Given the description of an element on the screen output the (x, y) to click on. 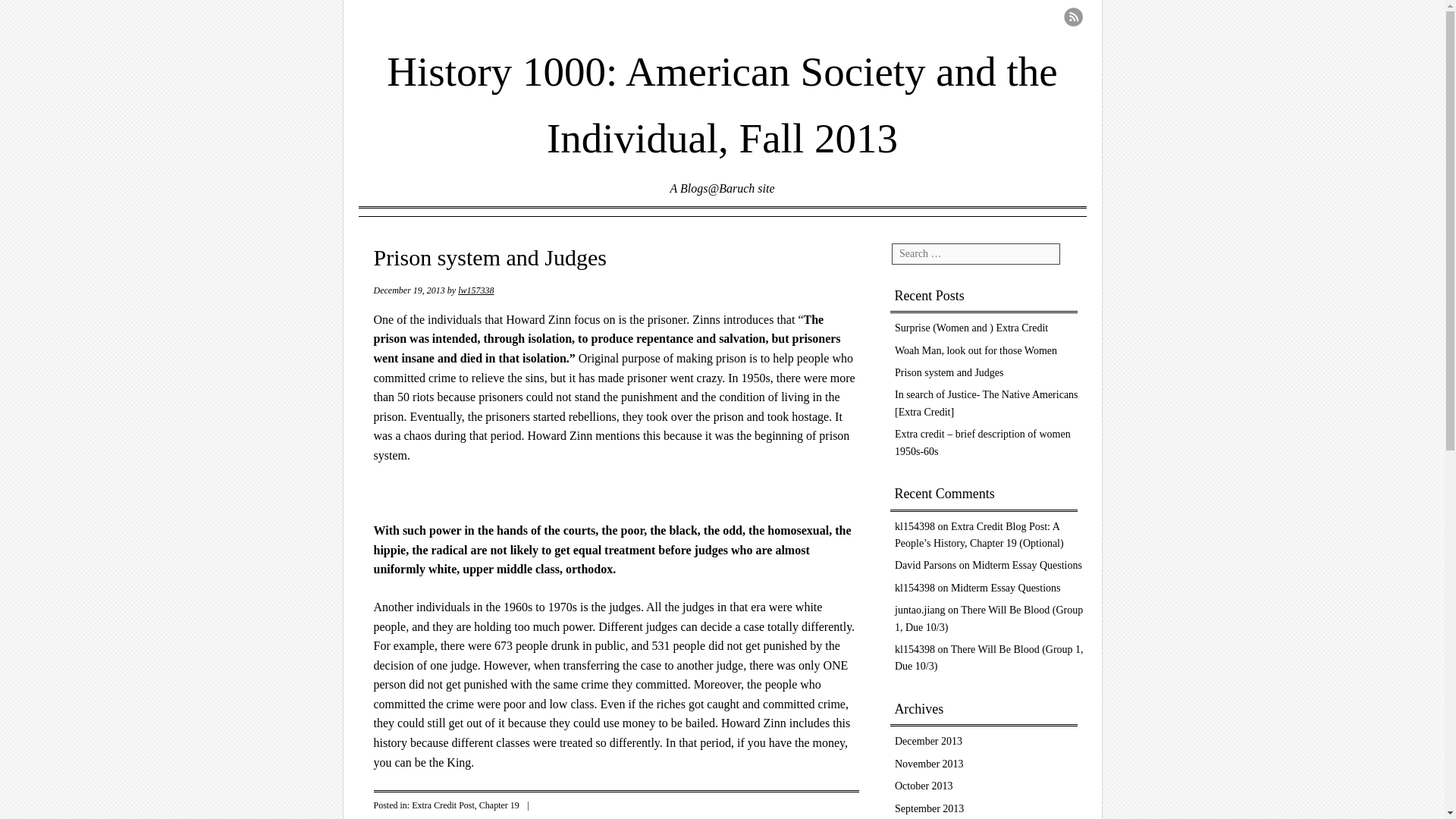
September 2013 (929, 808)
RSS Feed (1071, 16)
Midterm Essay Questions (1005, 587)
Skip to content (415, 233)
Midterm Essay Questions (1026, 564)
Prison system and Judges (949, 372)
Woah Man, look out for those Women (976, 350)
Extra Credit Post, Chapter 19 (465, 805)
Search (40, 21)
October 2013 (924, 785)
lw157338 (475, 290)
History 1000: American Society and the Individual, Fall 2013 (722, 94)
December 2013 (928, 740)
November 2013 (929, 763)
